Given the description of an element on the screen output the (x, y) to click on. 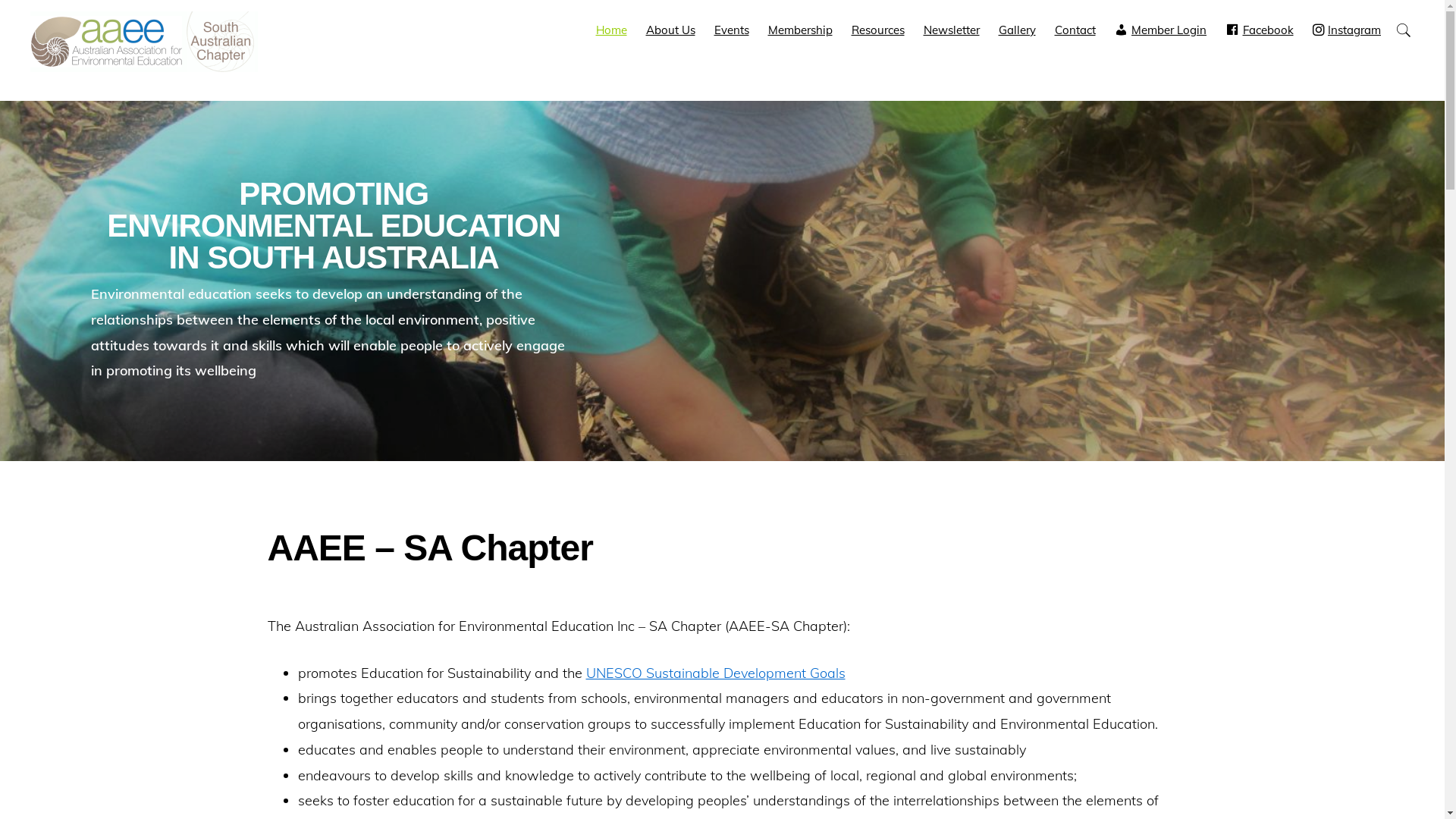
Show Search Element type: text (1403, 29)
UNESCO Sustainable Development Goals Element type: text (714, 672)
Home Element type: text (611, 29)
Contact Element type: text (1074, 29)
About Us Element type: text (670, 29)
Newsletter Element type: text (951, 29)
Member Login Element type: text (1160, 30)
Privacy Policy Element type: text (722, 775)
Resources Element type: text (877, 29)
Facebook Element type: text (1259, 30)
Membership Element type: text (799, 29)
Events Element type: text (731, 29)
Gallery Element type: text (1016, 29)
Skip to primary navigation Element type: text (0, 0)
Instagram Element type: text (1346, 30)
